Given the description of an element on the screen output the (x, y) to click on. 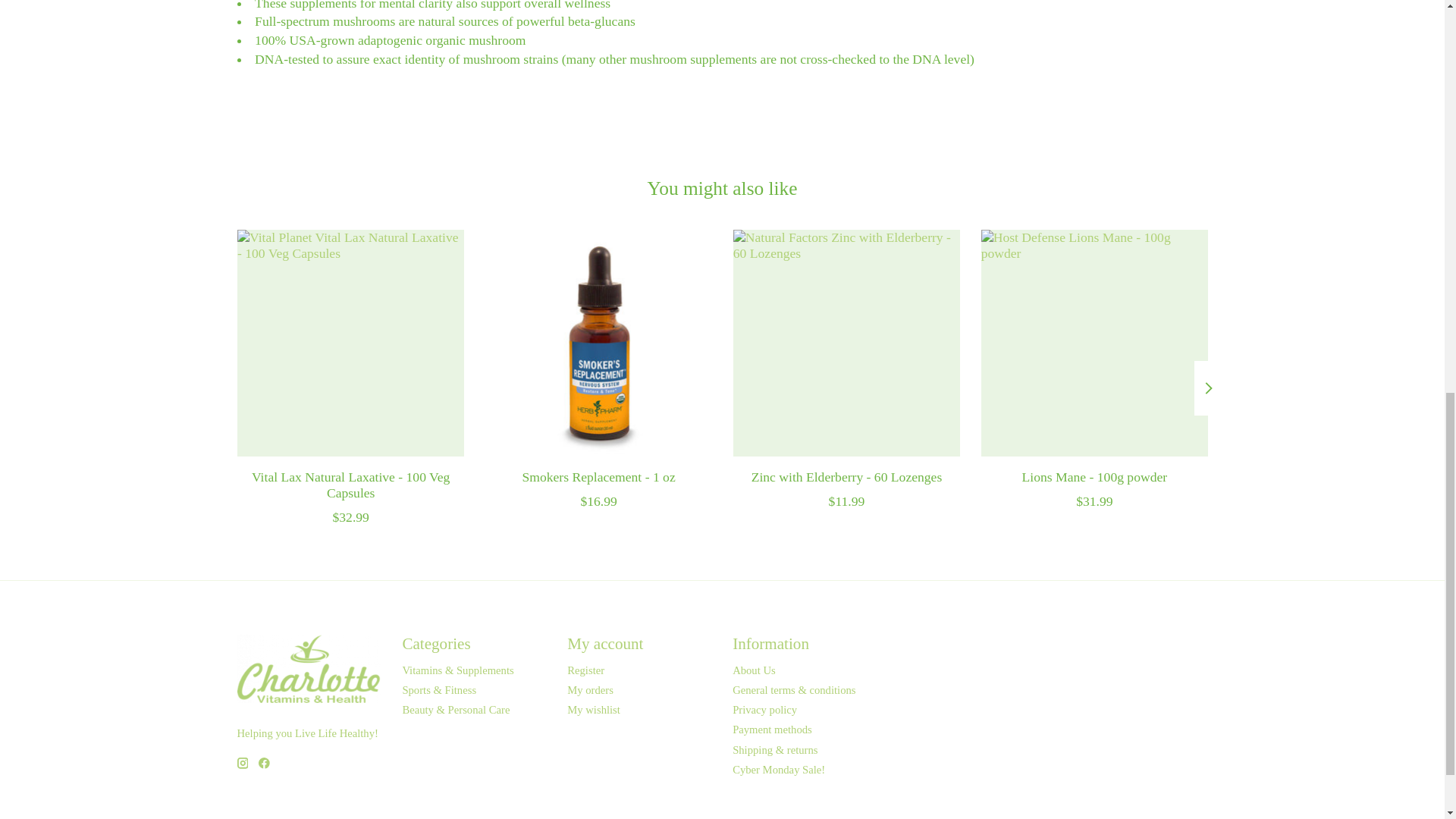
My wishlist (593, 709)
Register (585, 670)
Host Defense Lions Mane - 100g powder (1093, 343)
Natural Factors Zinc with Elderberry - 60 Lozenges (845, 343)
About Us (754, 670)
Herb Pharm Smokers Replacement - 1 oz (597, 343)
Vital Planet Vital Lax Natural Laxative - 100 Veg Capsules (349, 343)
My orders (589, 689)
